Given the description of an element on the screen output the (x, y) to click on. 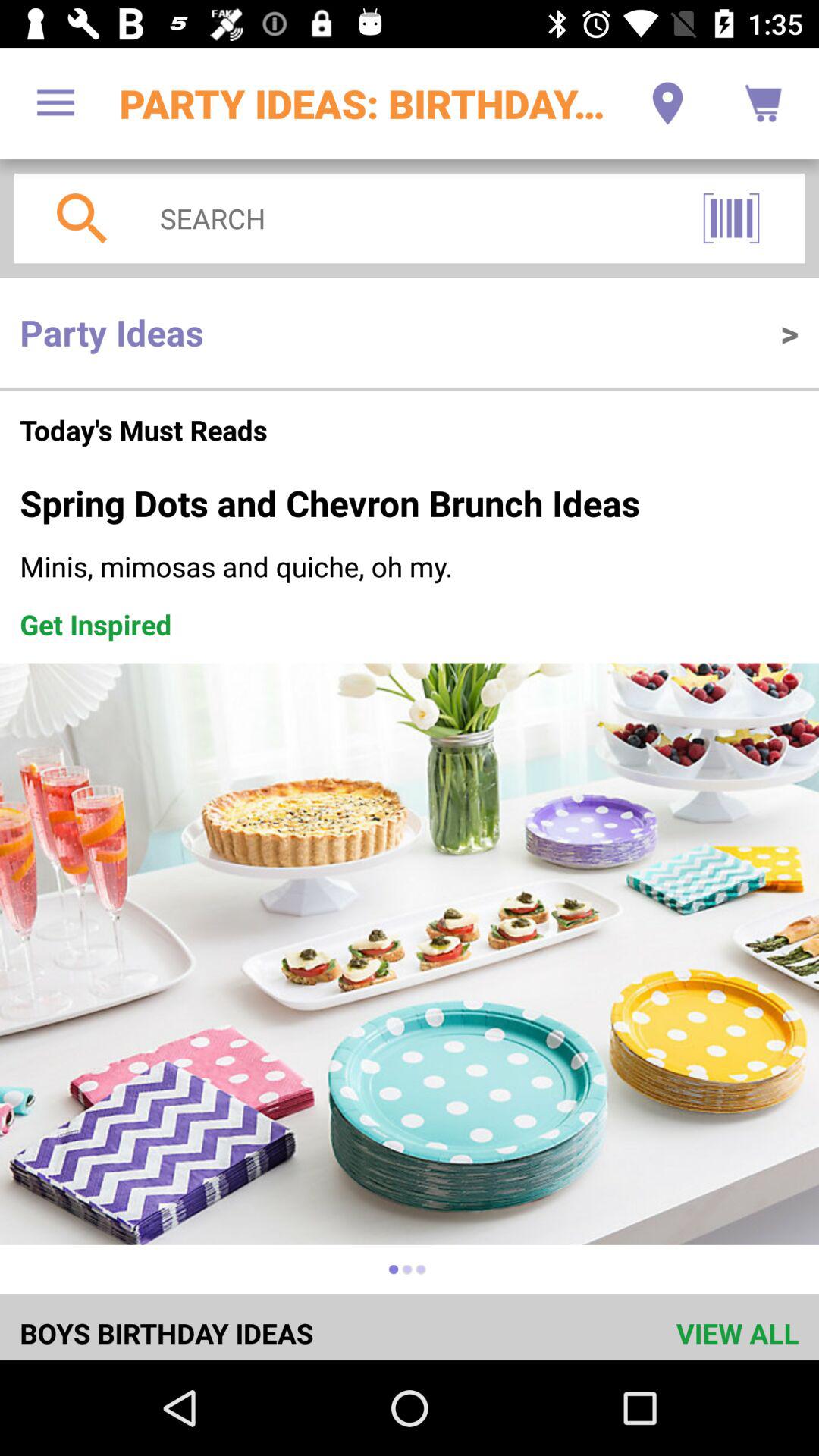
tap app to the right of the party ideas birthday (667, 103)
